Given the description of an element on the screen output the (x, y) to click on. 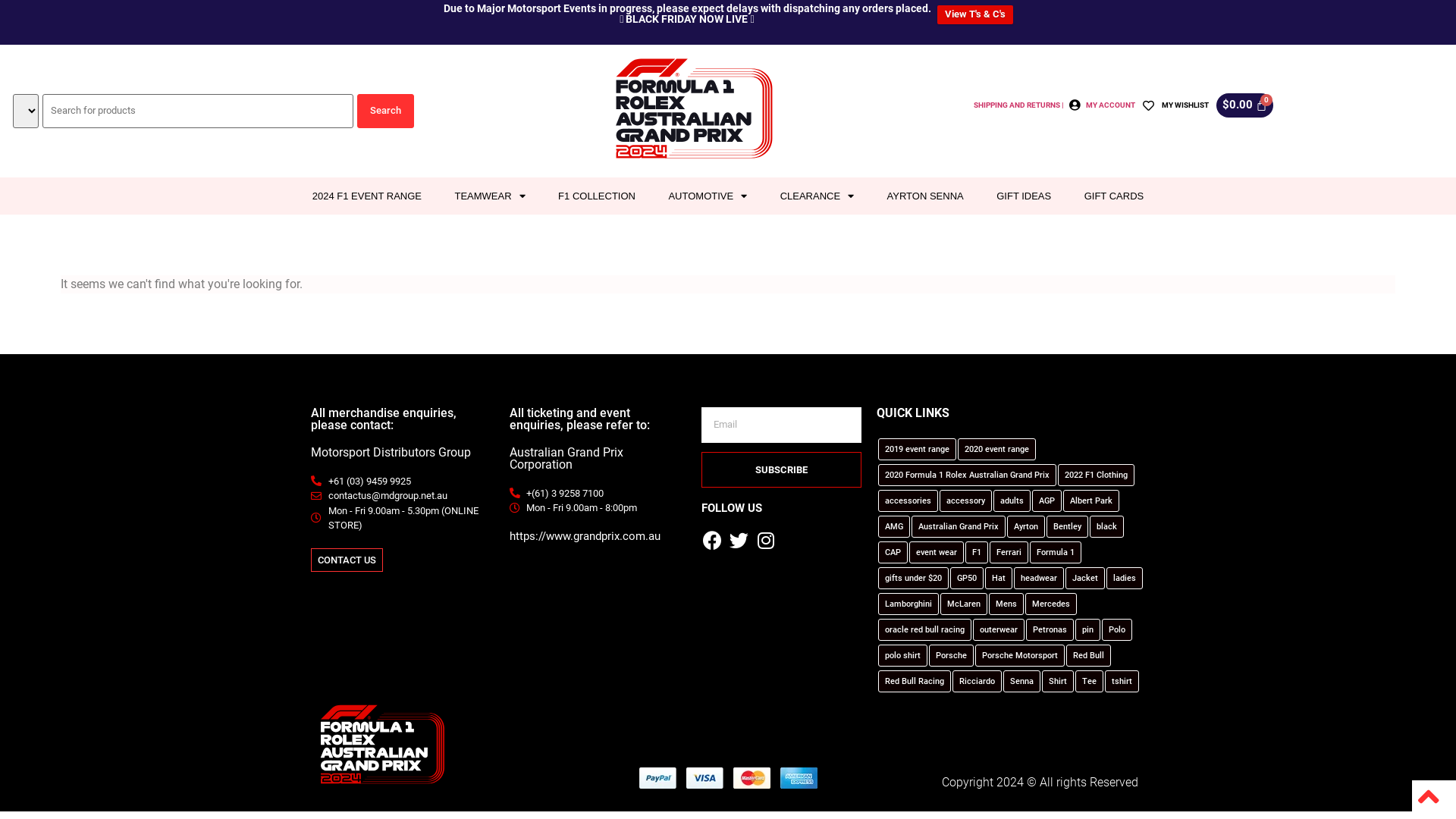
GIFT CARDS Element type: text (1113, 195)
Tee Element type: text (1089, 681)
F1 COLLECTION Element type: text (596, 195)
2019 event range Element type: text (917, 449)
gifts under $20 Element type: text (913, 578)
ladies Element type: text (1124, 578)
CAP Element type: text (892, 552)
2024 F1 EVENT RANGE Element type: text (366, 195)
Red Bull Element type: text (1088, 655)
Jacket Element type: text (1084, 578)
Mercedes Element type: text (1050, 604)
outerwear Element type: text (998, 629)
Search Element type: hover (385, 111)
Senna Element type: text (1021, 681)
tshirt Element type: text (1121, 681)
Search Element type: text (385, 111)
GIFT IDEAS Element type: text (1022, 195)
polo shirt Element type: text (902, 655)
Porsche Motorsport Element type: text (1019, 655)
CONTACT US Element type: text (346, 559)
CLEARANCE Element type: text (816, 195)
AMG Element type: text (894, 526)
2020 Formula 1 Rolex Australian Grand Prix Element type: text (967, 475)
Ayrton Element type: text (1025, 526)
View T's & C's Element type: text (975, 14)
Australian Grand Prix Element type: text (958, 526)
accessories Element type: text (908, 500)
Polo Element type: text (1116, 629)
Lamborghini Element type: text (908, 604)
SUBSCRIBE Element type: text (781, 469)
Mens Element type: text (1005, 604)
black Element type: text (1106, 526)
pin Element type: text (1087, 629)
headwear Element type: text (1038, 578)
https://www.grandprix.com.au Element type: text (584, 535)
accessory Element type: text (965, 500)
Albert Park Element type: text (1091, 500)
Hat Element type: text (998, 578)
Formula 1 Element type: text (1055, 552)
adults Element type: text (1011, 500)
SHIPPING AND RETURNS | Element type: text (1018, 104)
Porsche Element type: text (950, 655)
AYRTON SENNA Element type: text (925, 195)
F1 Element type: text (976, 552)
Petronas Element type: text (1049, 629)
event wear Element type: text (936, 552)
contactus@mdgroup.net.au Element type: text (402, 495)
AGP Element type: text (1046, 500)
AUTOMOTIVE Element type: text (707, 195)
TEAMWEAR Element type: text (490, 195)
GP50 Element type: text (966, 578)
McLaren Element type: text (963, 604)
Ferrari Element type: text (1008, 552)
Bentley Element type: text (1067, 526)
Shirt Element type: text (1057, 681)
MY ACCOUNT Element type: text (1110, 104)
MY WISHLIST Element type: text (1184, 104)
Ricciardo Element type: text (976, 681)
oracle red bull racing Element type: text (924, 629)
$0.00 Element type: text (1245, 105)
2020 event range Element type: text (996, 449)
2022 F1 Clothing Element type: text (1095, 475)
Red Bull Racing Element type: text (914, 681)
